Given the description of an element on the screen output the (x, y) to click on. 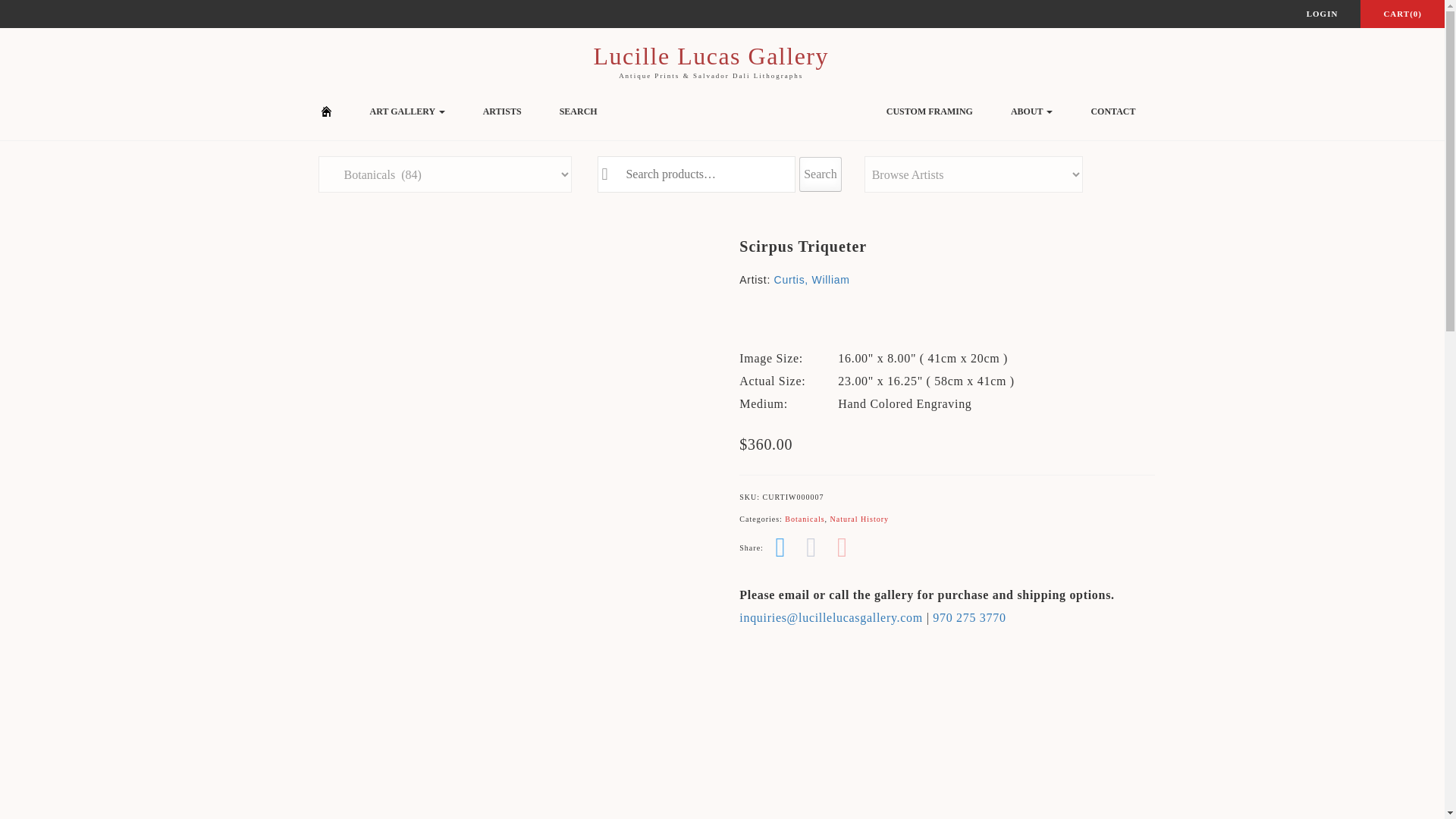
Natural History (859, 519)
LOGIN (1322, 13)
Artists (502, 111)
ART GALLERY (407, 111)
Botanicals (804, 519)
Search (577, 111)
Custom Framing (929, 111)
CUSTOM FRAMING (929, 111)
SEARCH (577, 111)
Login (1322, 13)
